Given the description of an element on the screen output the (x, y) to click on. 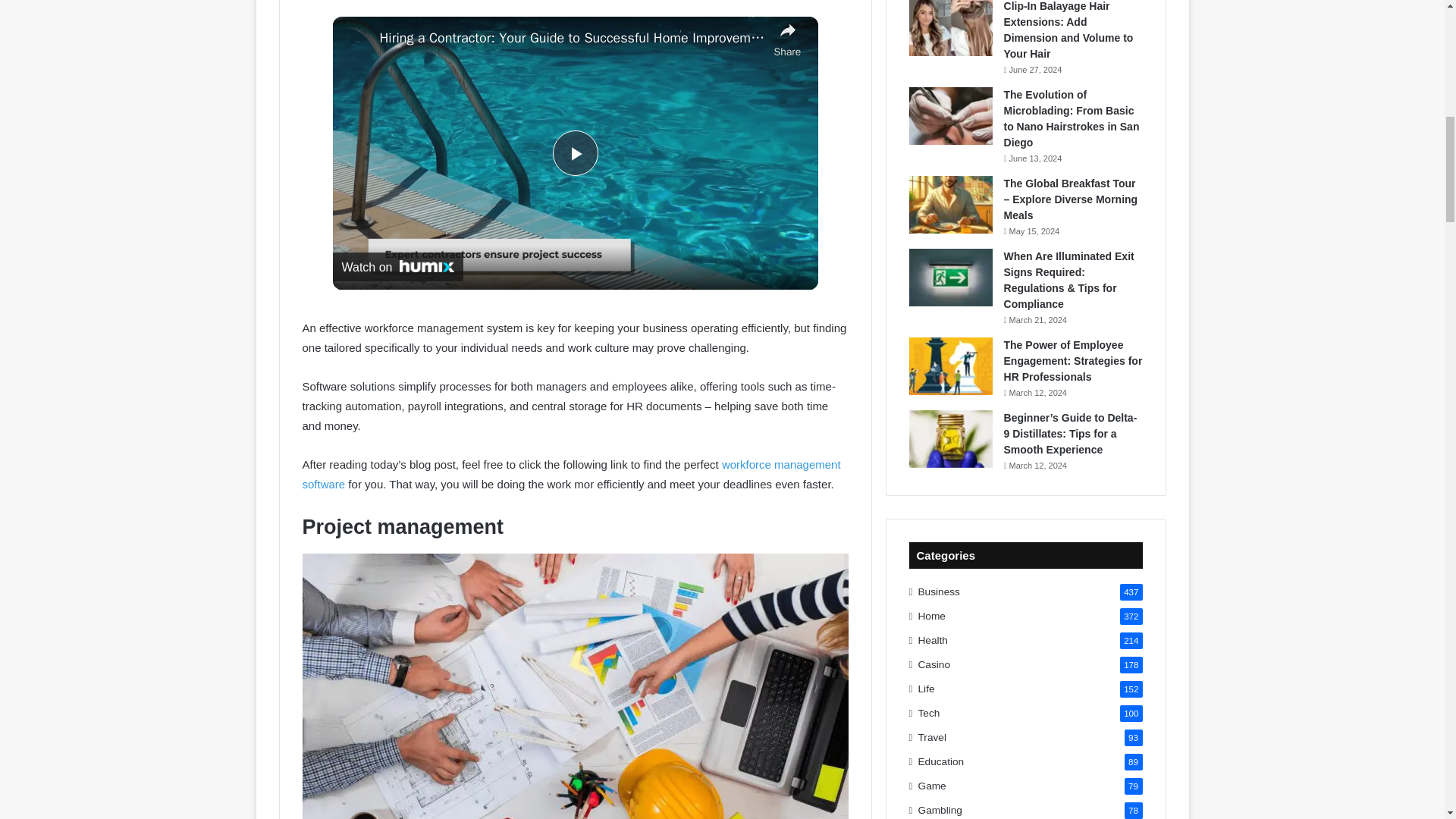
workforce management software (570, 473)
Play Video (573, 153)
Watch on (397, 266)
Play Video (573, 153)
